Given the description of an element on the screen output the (x, y) to click on. 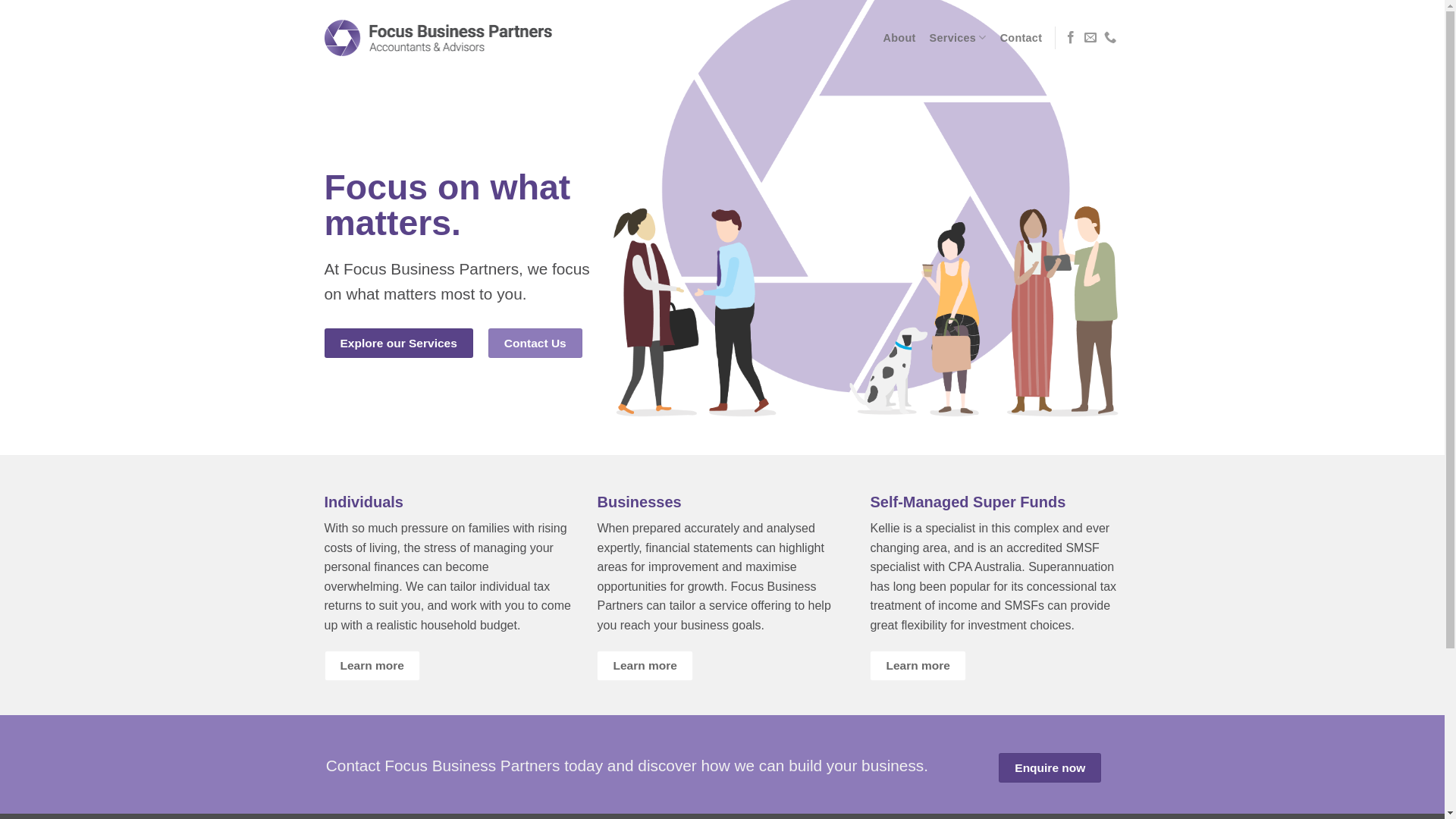
Learn more Element type: text (372, 665)
Learn more Element type: text (917, 665)
Enquire now Element type: text (1049, 767)
Learn more Element type: text (644, 665)
About Element type: text (899, 37)
Contact Us Element type: text (535, 342)
Individuals Element type: text (363, 501)
Services Element type: text (957, 37)
Self-Managed Super Funds Element type: text (967, 501)
Businesses Element type: text (638, 501)
Focus Business Partners - Accountants & Advisors Element type: hover (438, 37)
Explore our Services Element type: text (398, 342)
Skip to content Element type: text (0, 0)
Contact Element type: text (1021, 37)
